Given the description of an element on the screen output the (x, y) to click on. 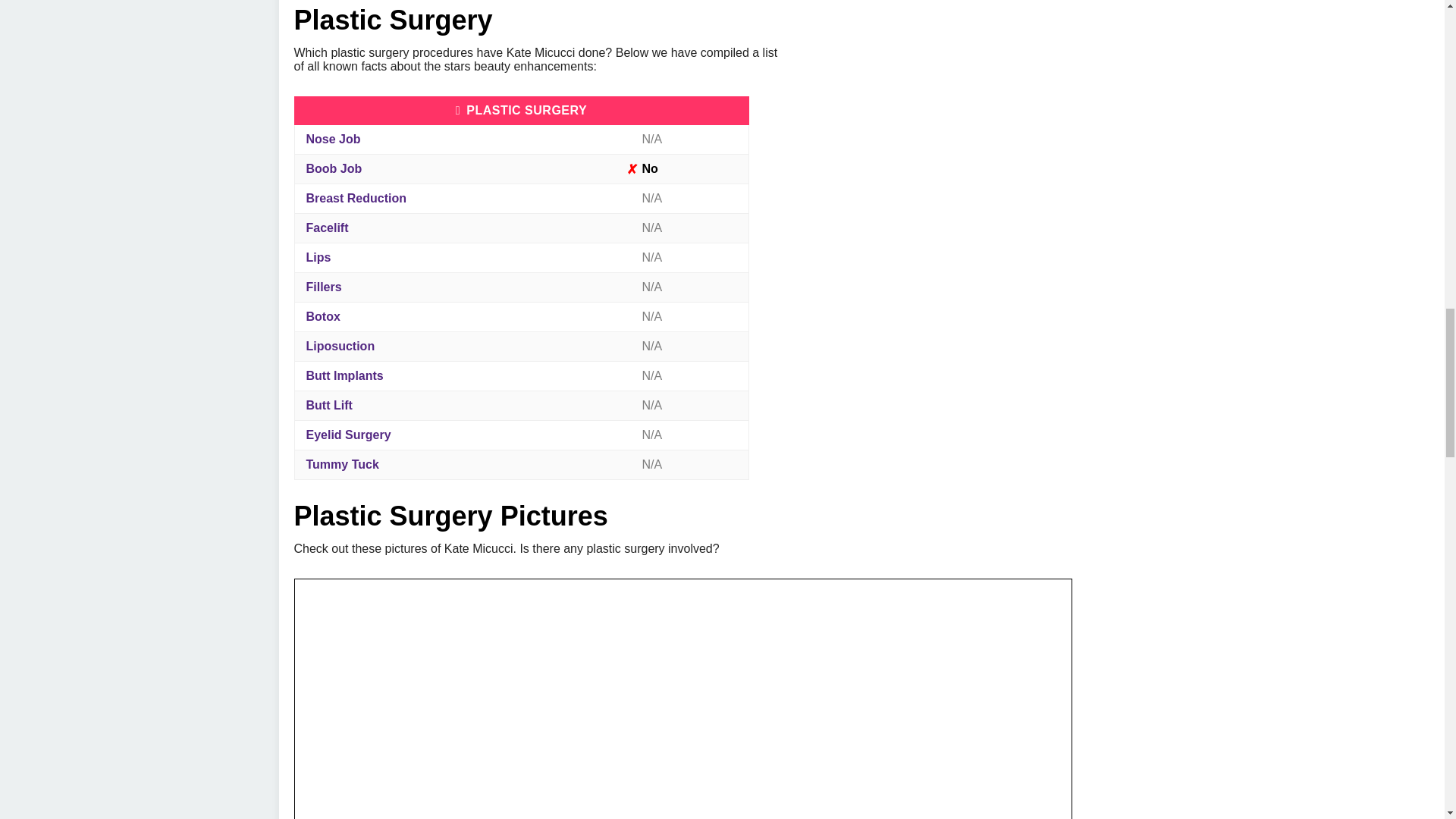
Botox (322, 316)
Facelift (327, 227)
Breast Reduction (355, 197)
Lips (318, 256)
Nose Job (333, 138)
Boob Job (333, 168)
Fillers (323, 286)
